Given the description of an element on the screen output the (x, y) to click on. 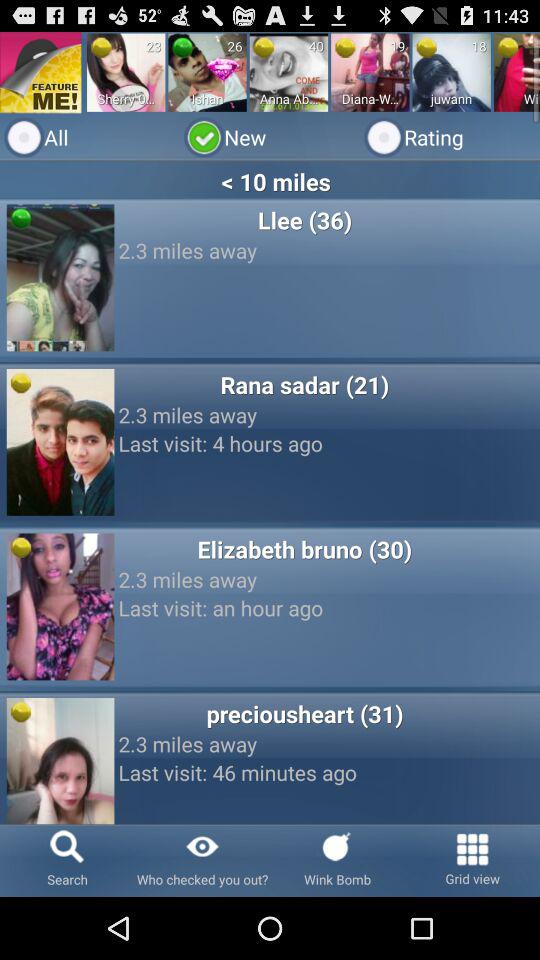
click the icon next to the grid view button (337, 860)
